Given the description of an element on the screen output the (x, y) to click on. 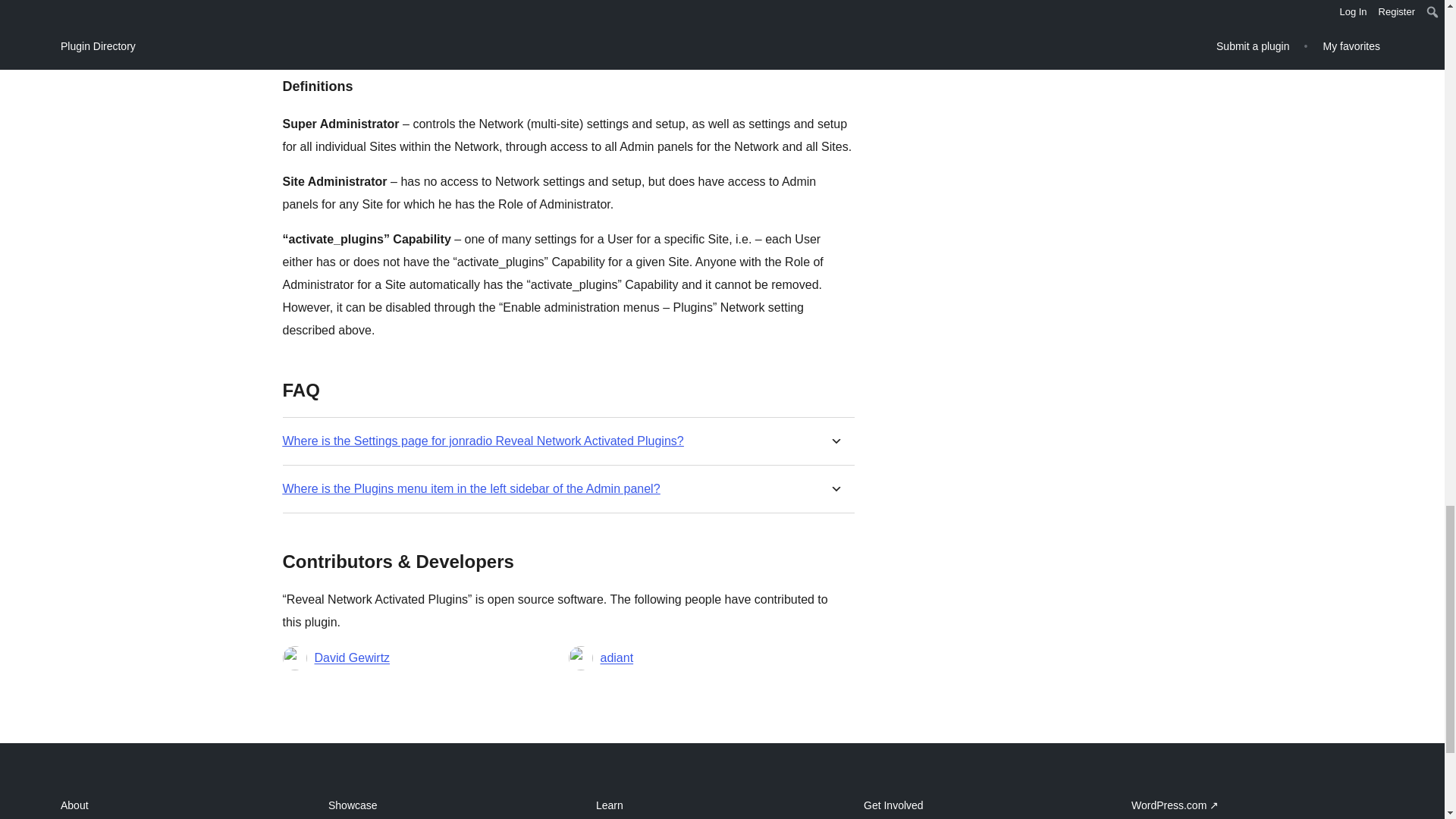
adiant (616, 658)
David Gewirtz (352, 658)
